Given the description of an element on the screen output the (x, y) to click on. 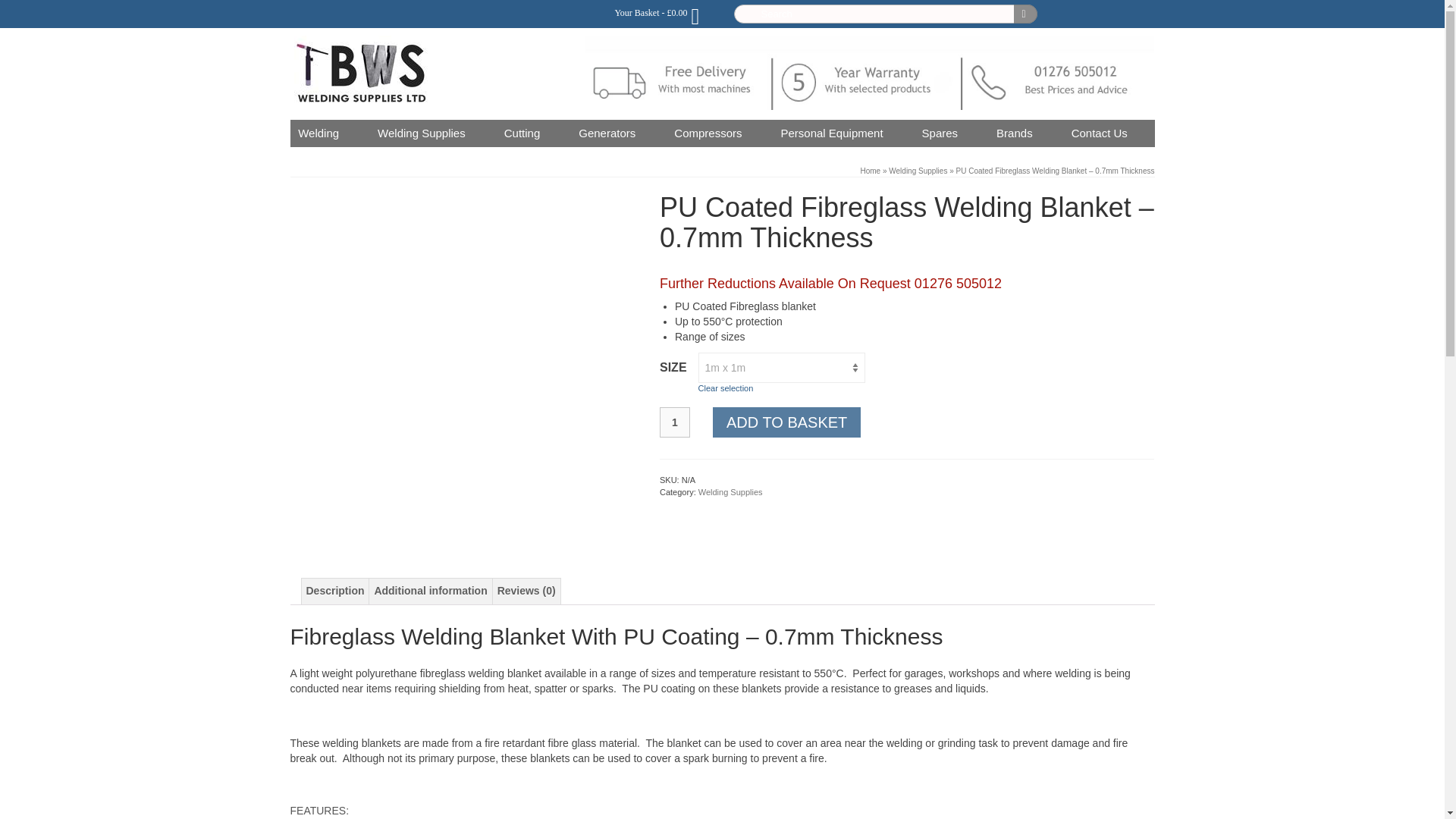
Welding (319, 133)
TBWS Welding Supplies Ltd (428, 73)
1 (674, 422)
View your shopping basket (658, 12)
